Given the description of an element on the screen output the (x, y) to click on. 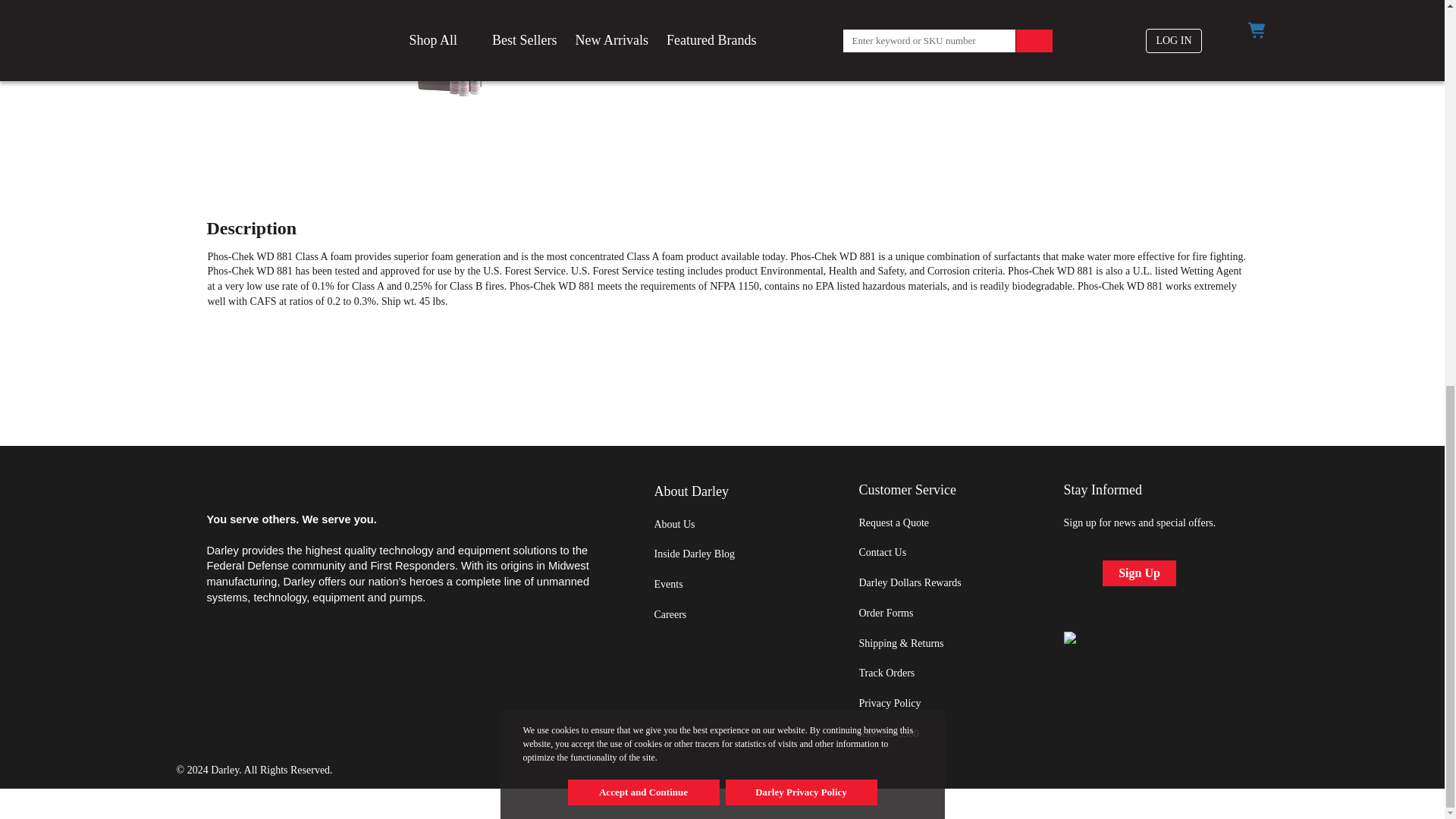
Events (667, 583)
Contact Us (882, 552)
Request a Quote (893, 522)
About Us (673, 523)
Darley Privacy Policy (800, 63)
Darley Dollars Rewards (909, 582)
Accept and Continue (643, 63)
Inside Darley Blog (694, 553)
Privacy Policy (889, 703)
Careers (669, 614)
Sign Up (1139, 573)
Track Orders (886, 672)
Order Forms (885, 613)
